Given the description of an element on the screen output the (x, y) to click on. 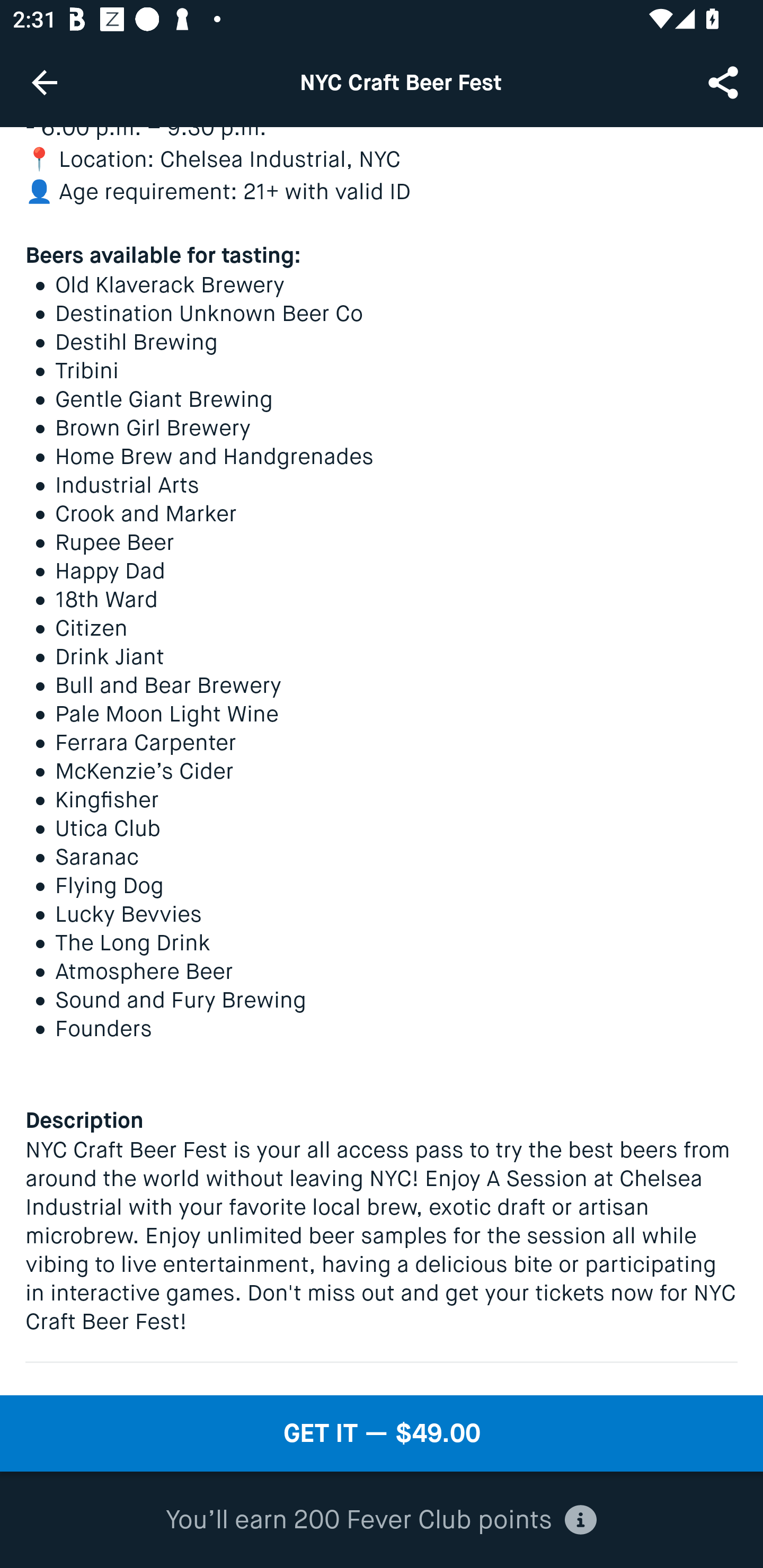
Navigate up (44, 82)
Share (724, 81)
GET IT — $49.00 (381, 1433)
You’ll earn 200 Fever Club points (380, 1519)
